Given the description of an element on the screen output the (x, y) to click on. 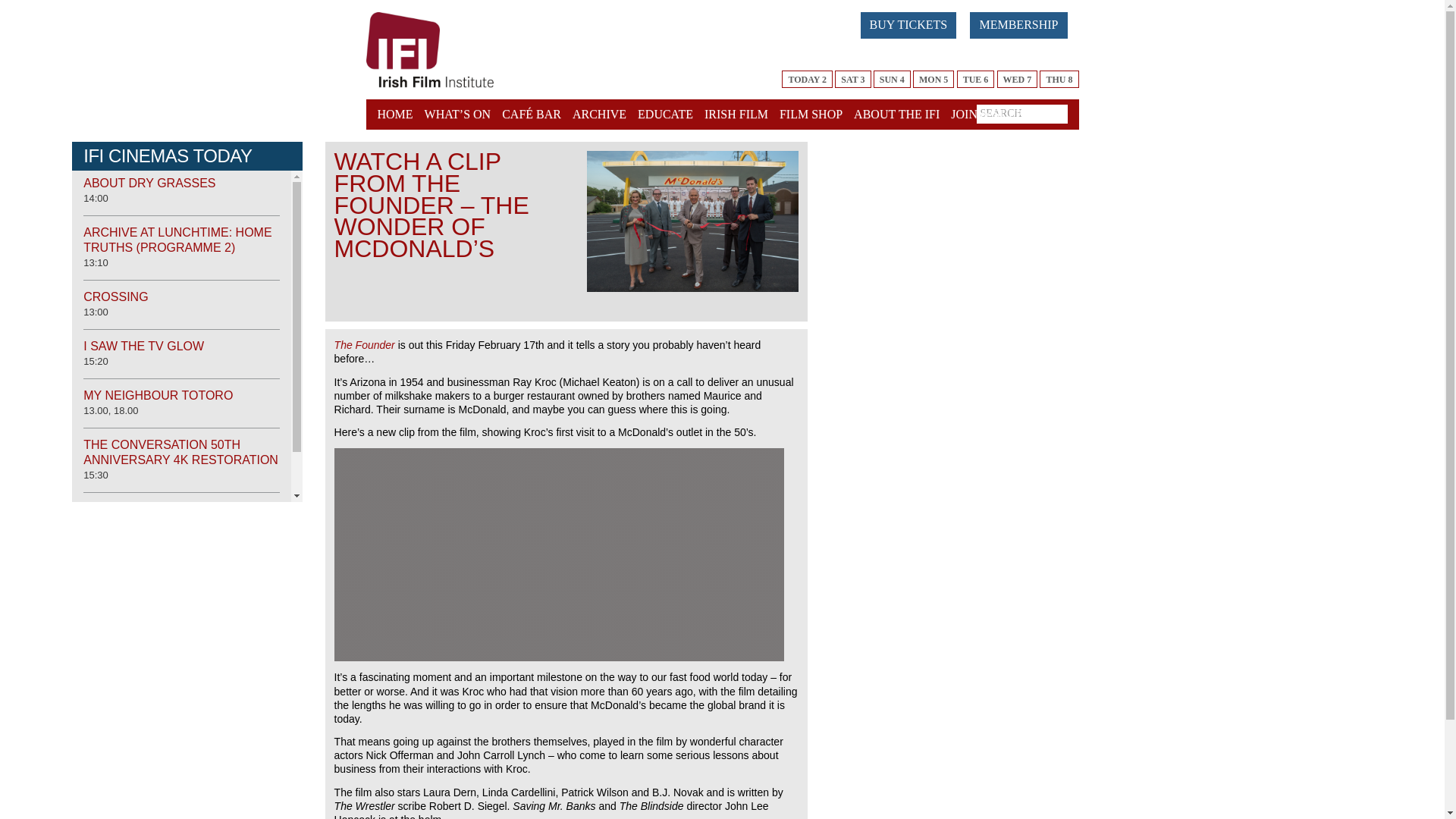
BUY TICKETS (915, 23)
HOME (398, 114)
MON 5 (932, 78)
BUY TICKETS (908, 25)
SUN 4 (892, 78)
IRISH FILM INSTITUTE LOGO (430, 49)
TUE 6 (975, 78)
TODAY 2 (806, 78)
MEMBERSHIP (1023, 23)
SAT 3 (852, 78)
THU 8 (1058, 78)
WED 7 (1017, 78)
MEMBERSHIP (1018, 25)
ARCHIVE (598, 114)
